Given the description of an element on the screen output the (x, y) to click on. 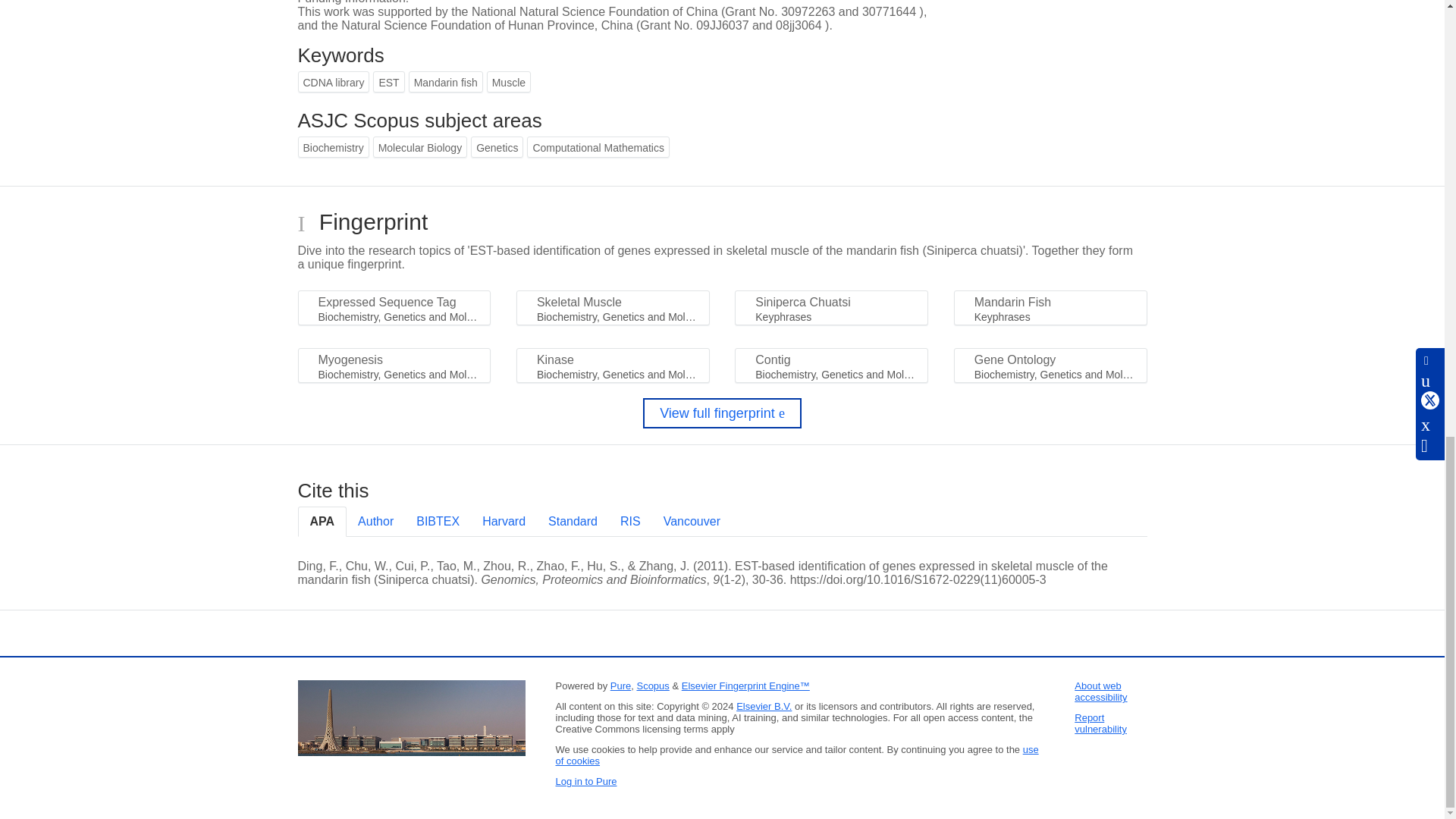
Scopus (652, 685)
View full fingerprint (722, 413)
Pure (620, 685)
